Given the description of an element on the screen output the (x, y) to click on. 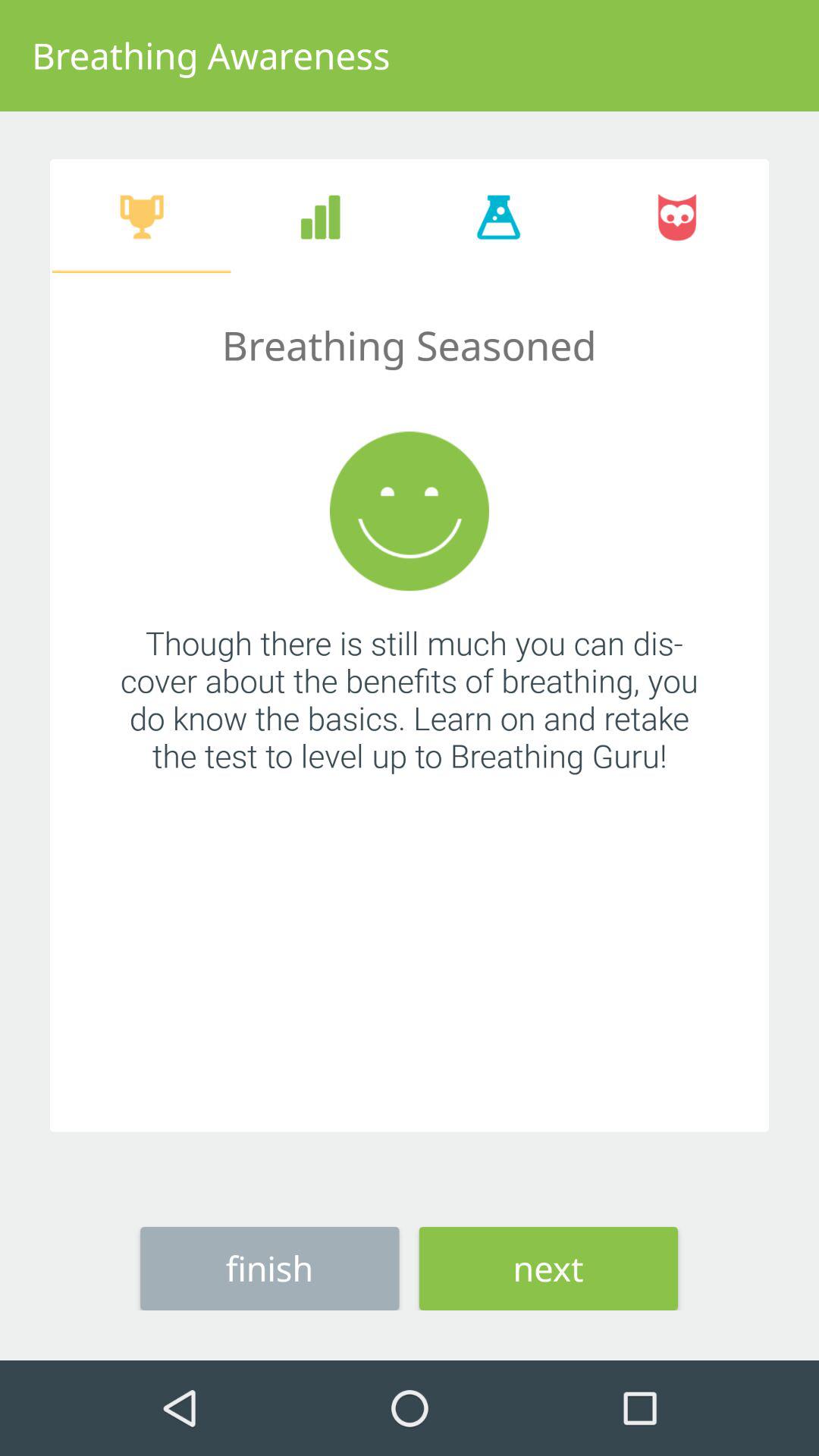
select the icon which is just right to the trophy icon (319, 217)
click on the first icon below the breathing awareness (141, 217)
